Given the description of an element on the screen output the (x, y) to click on. 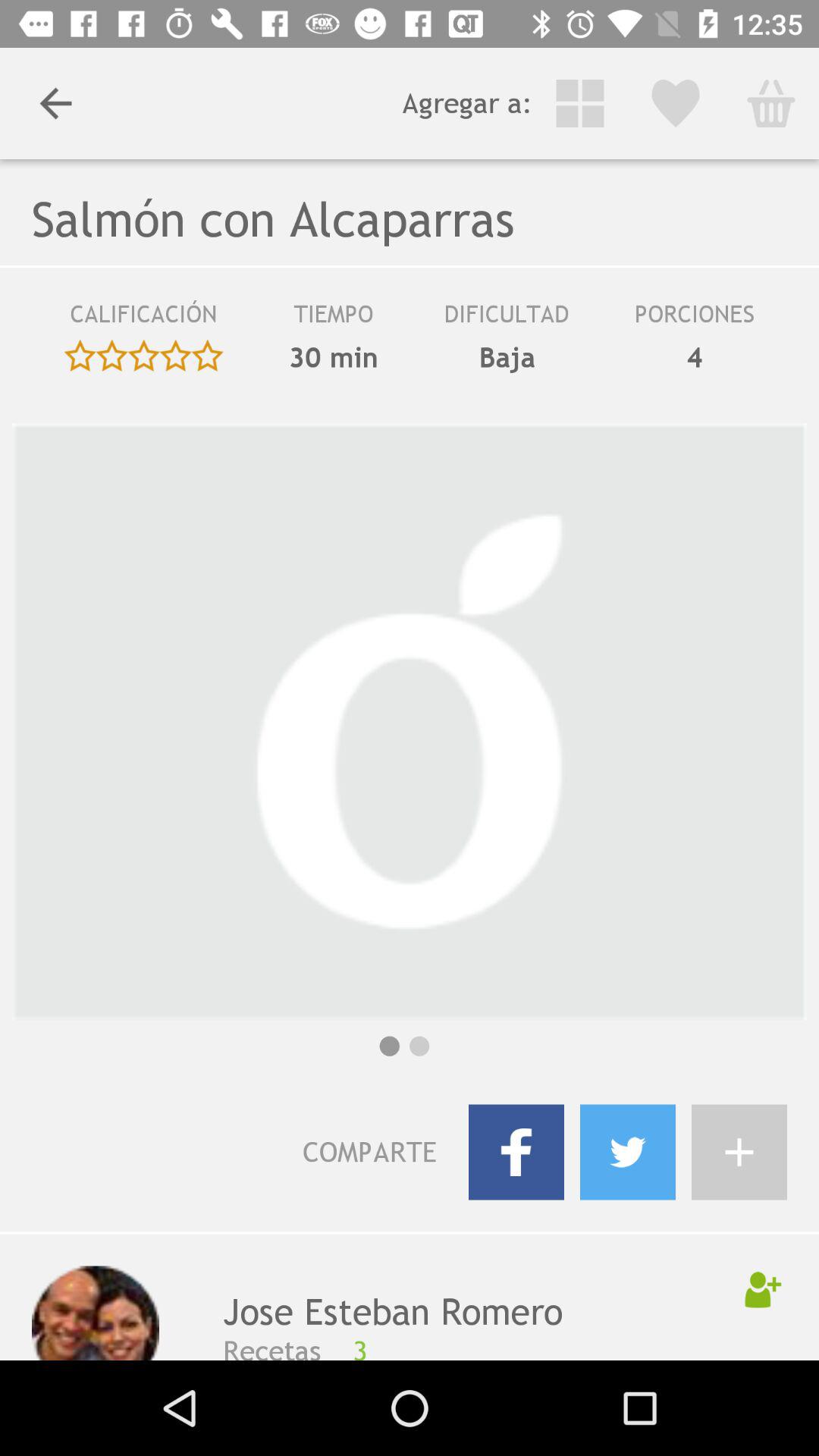
share to twitter (627, 1152)
